Given the description of an element on the screen output the (x, y) to click on. 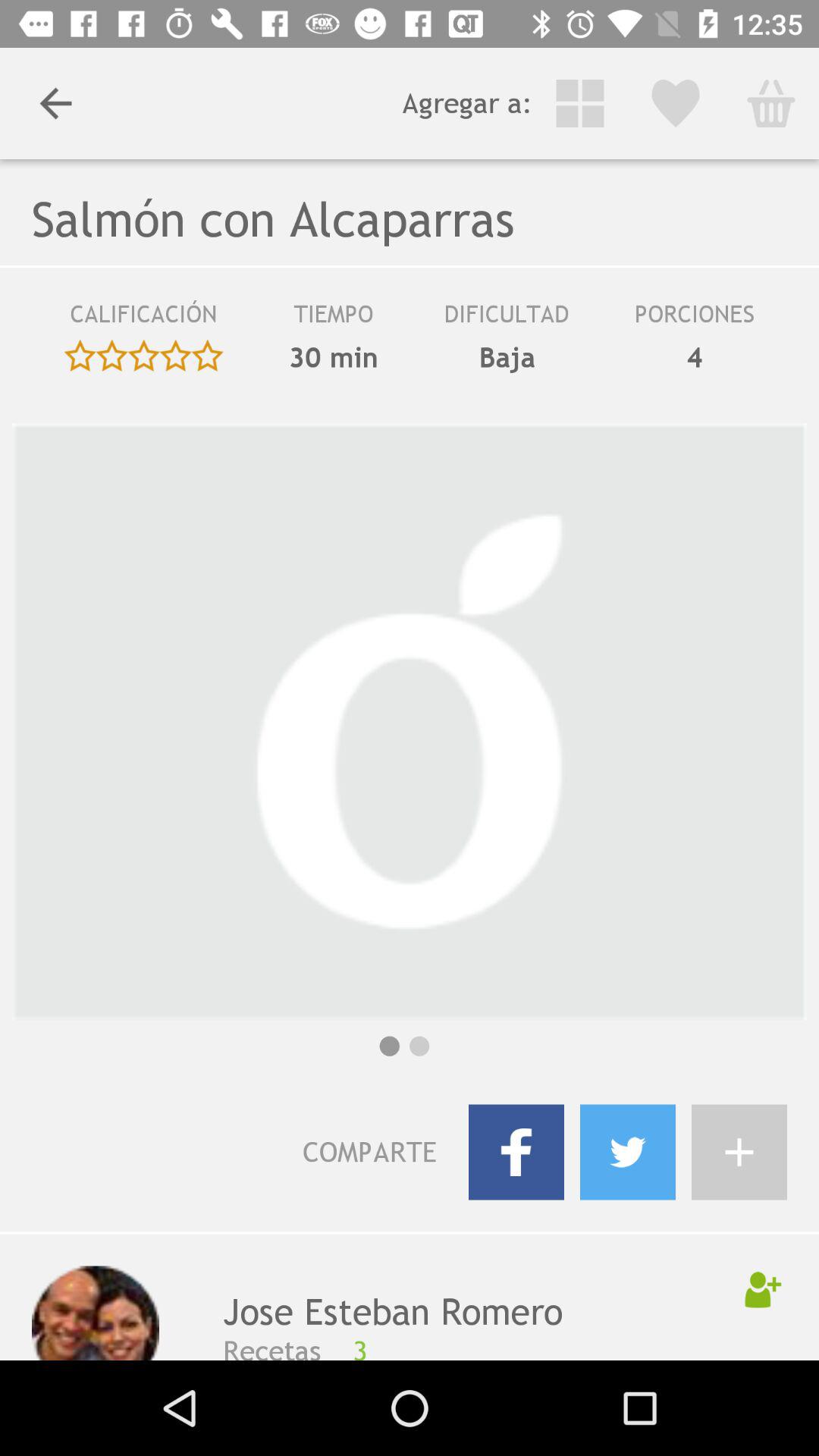
share to twitter (627, 1152)
